Given the description of an element on the screen output the (x, y) to click on. 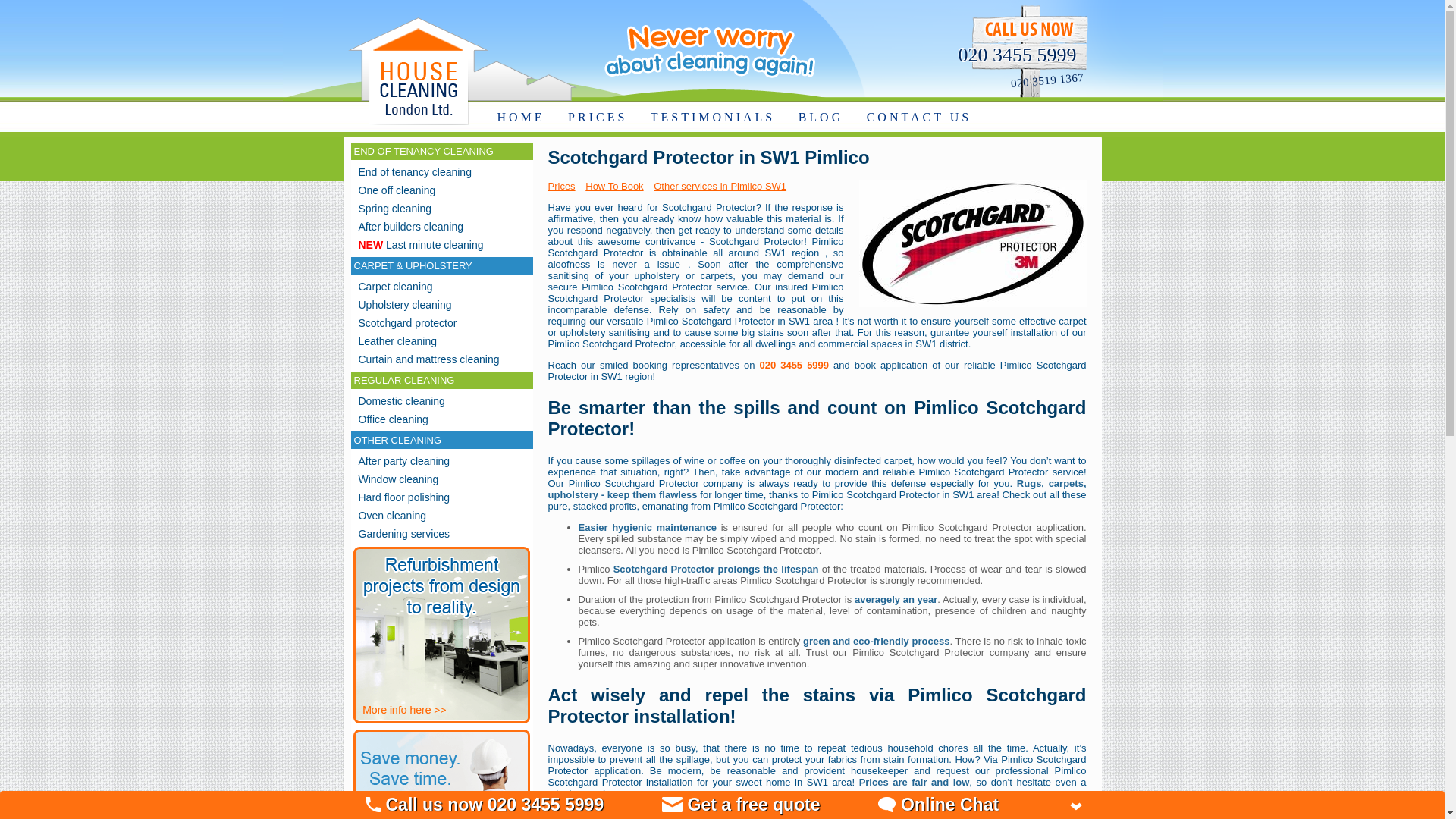
Other services in Pimlico SW1 (723, 185)
Prices (564, 185)
How To Book (617, 185)
